Given the description of an element on the screen output the (x, y) to click on. 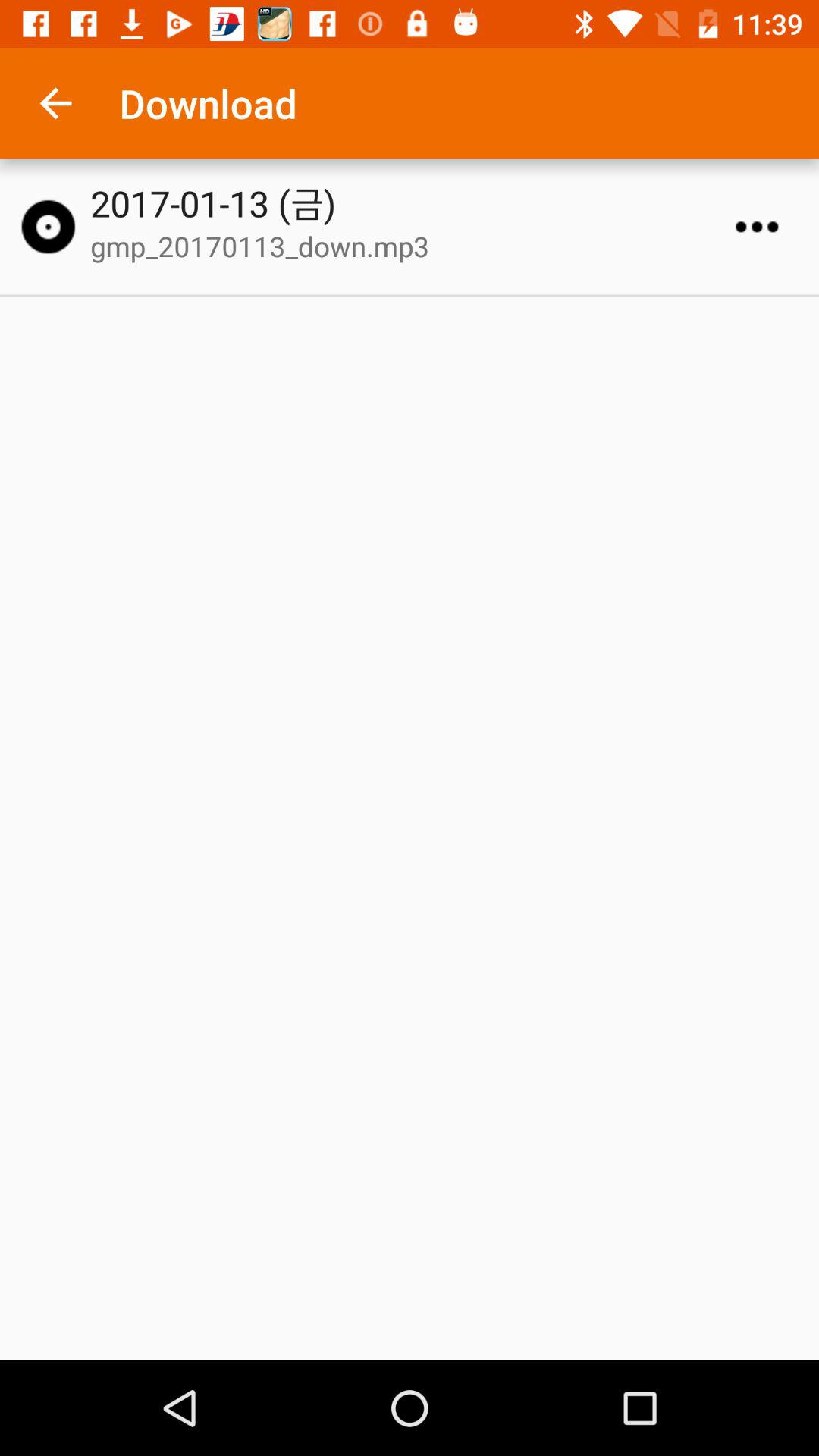
select item above the 2017 01 13 (55, 103)
